Given the description of an element on the screen output the (x, y) to click on. 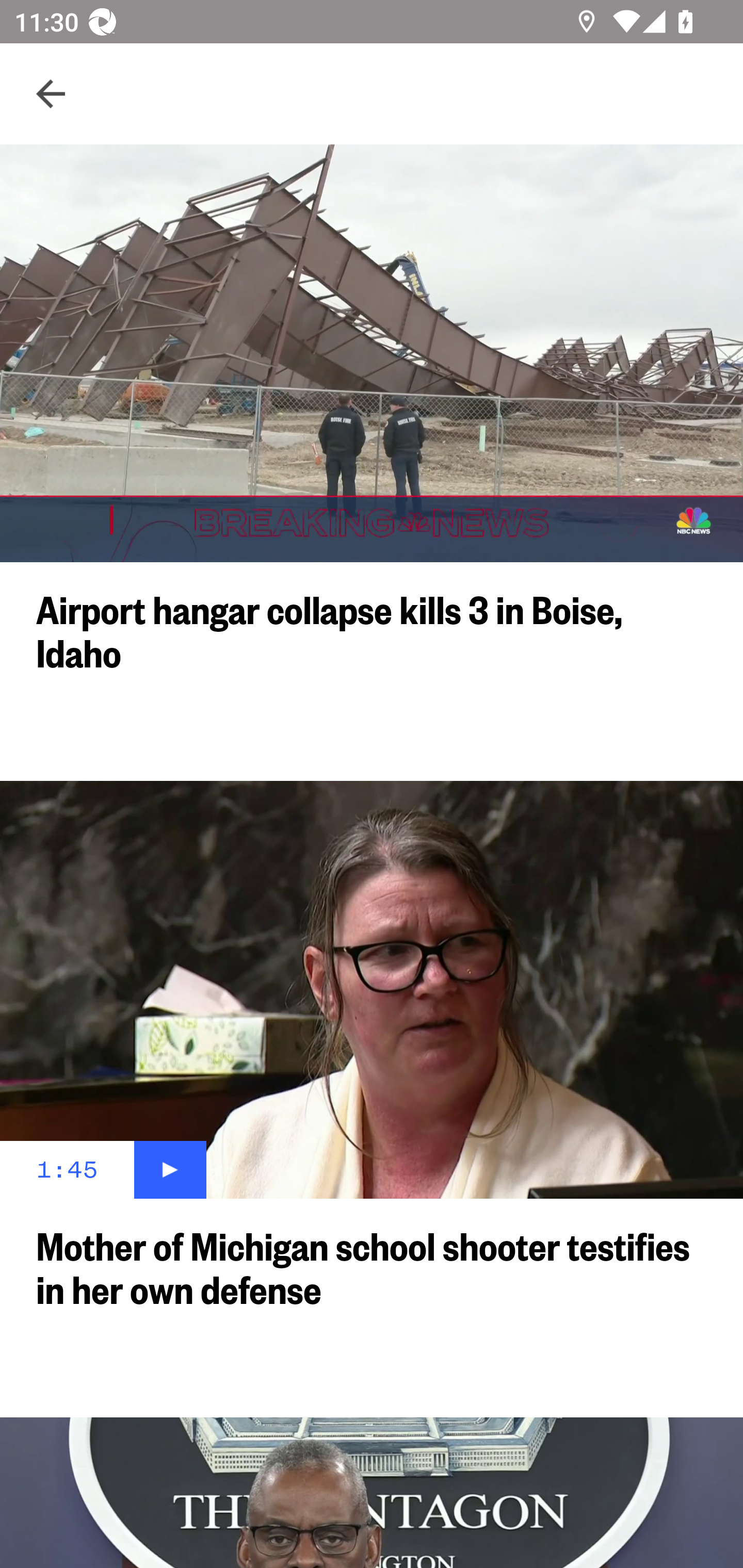
Navigate up (50, 93)
